Given the description of an element on the screen output the (x, y) to click on. 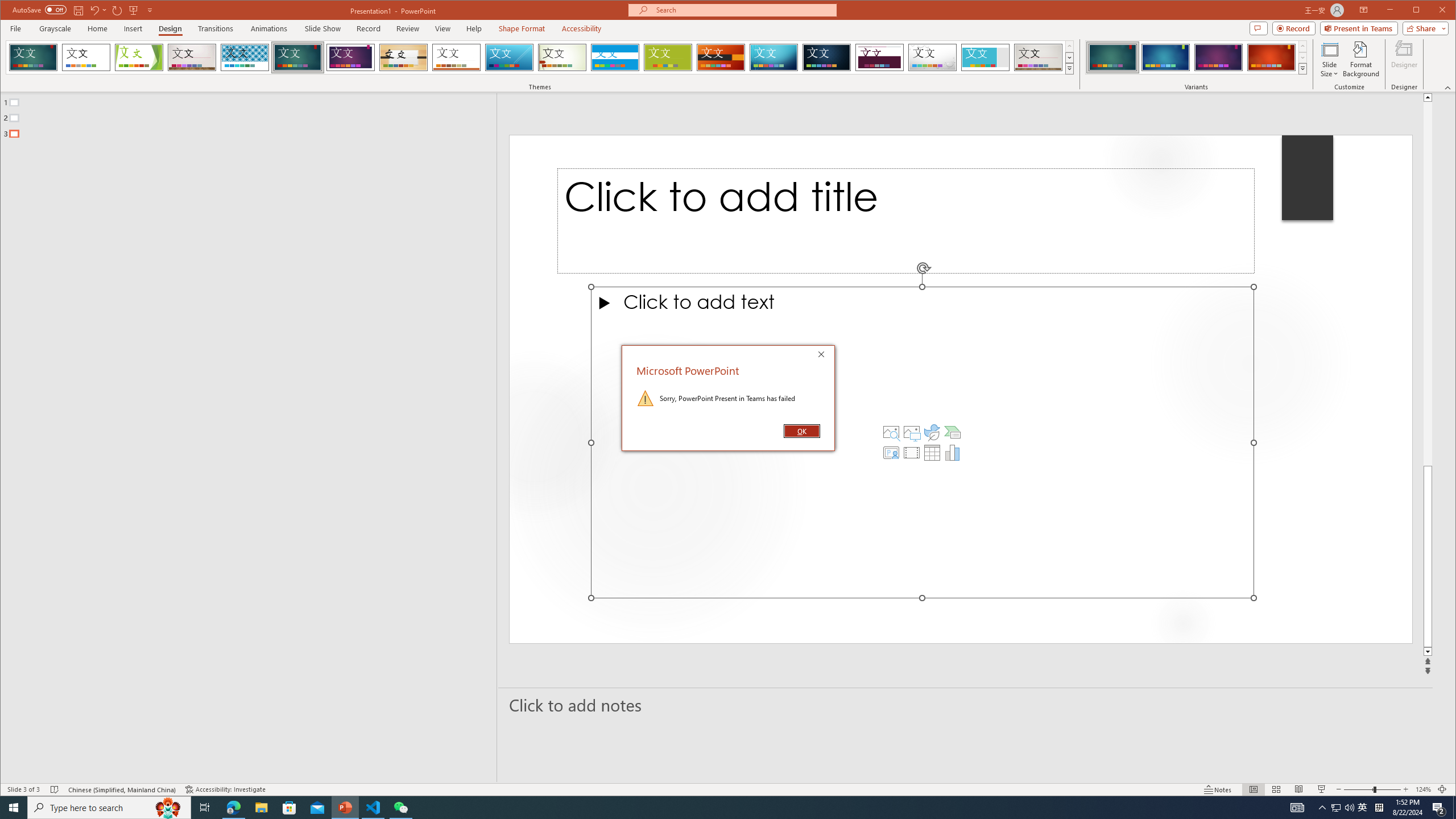
Ion Variant 4 (1270, 57)
Frame (985, 57)
